Given the description of an element on the screen output the (x, y) to click on. 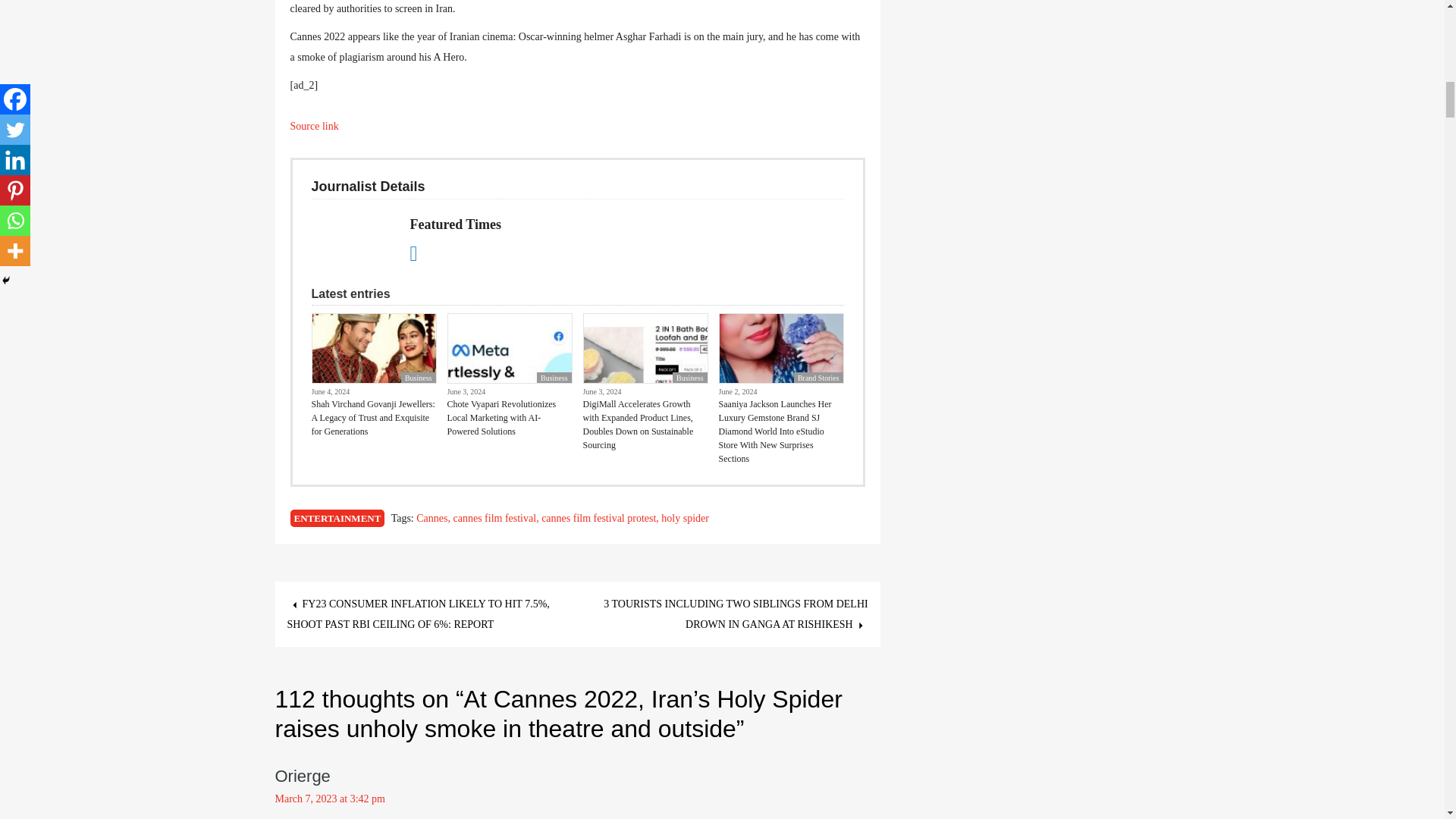
Source link (313, 125)
Business (689, 377)
Business (554, 377)
Business (418, 377)
